Given the description of an element on the screen output the (x, y) to click on. 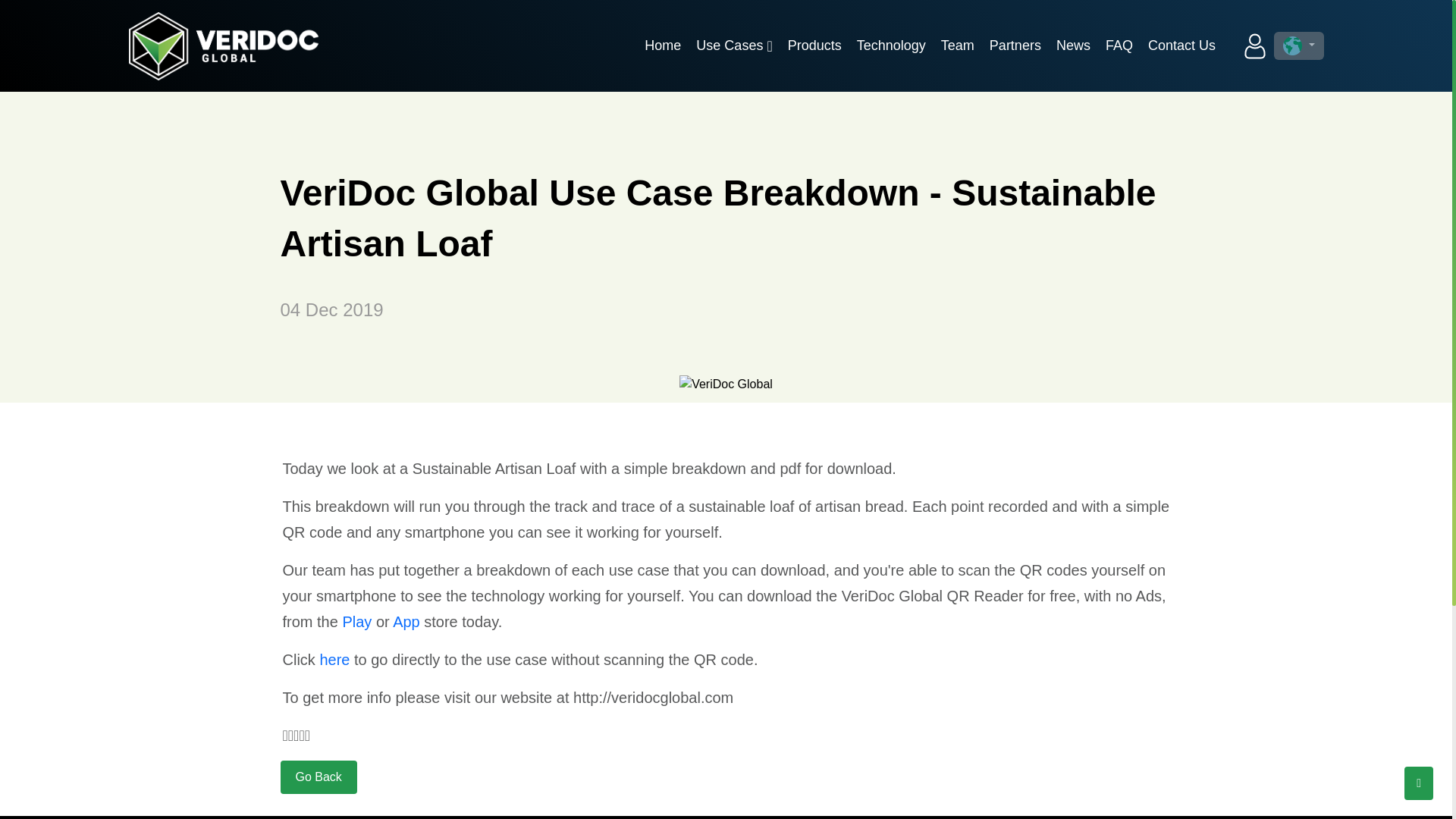
Home (662, 45)
Use Cases (733, 45)
VeriDoc Global (223, 46)
